Given the description of an element on the screen output the (x, y) to click on. 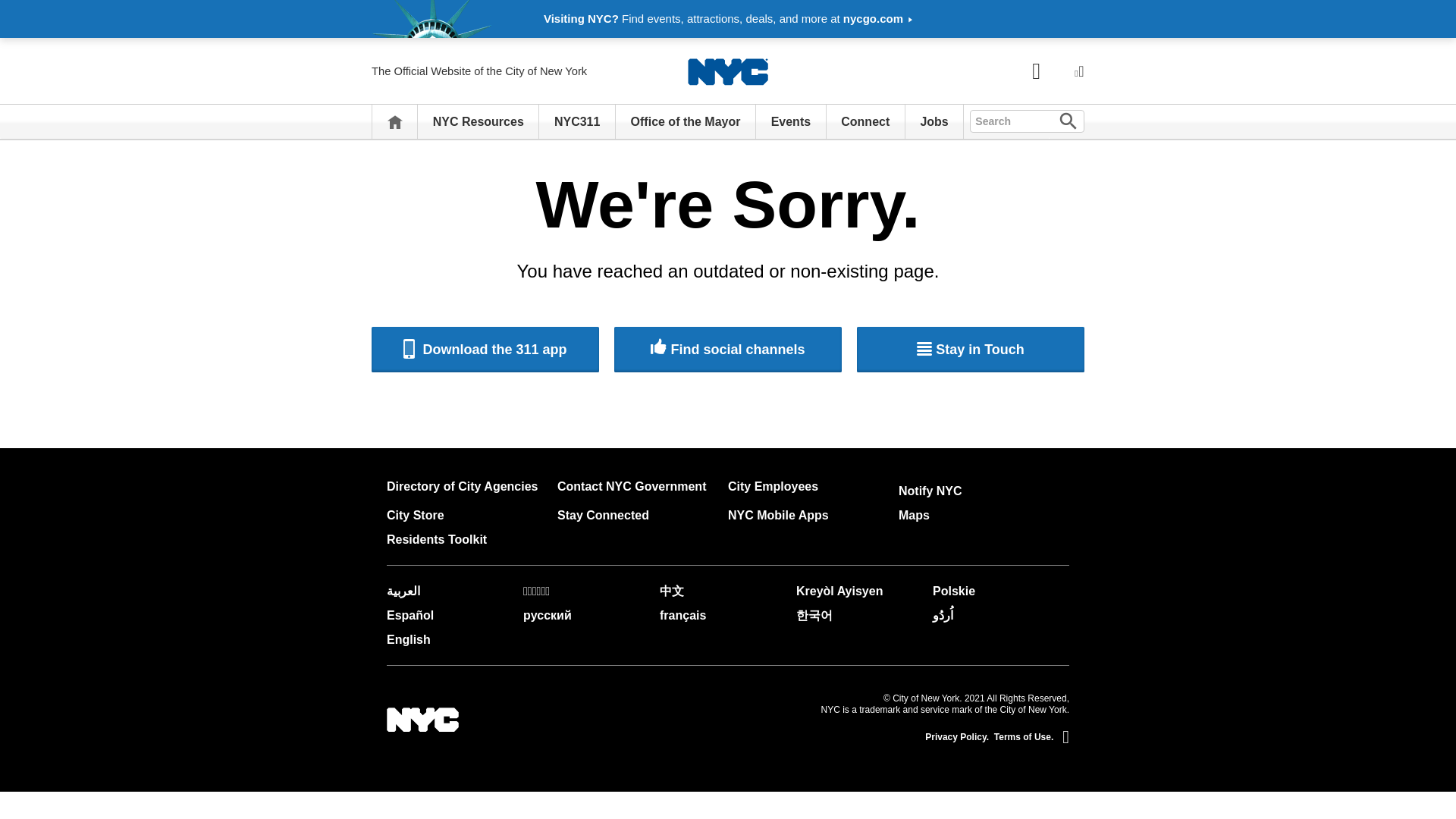
Stay in Touch (970, 349)
Maps (914, 514)
Find social channels (727, 349)
nycgo.com (877, 18)
Stay Connected (603, 514)
 Download the 311 app (484, 349)
Office of the Mayor (685, 121)
Directory of City Agencies (462, 486)
NYC Mobile Apps (778, 514)
Events (790, 121)
